Given the description of an element on the screen output the (x, y) to click on. 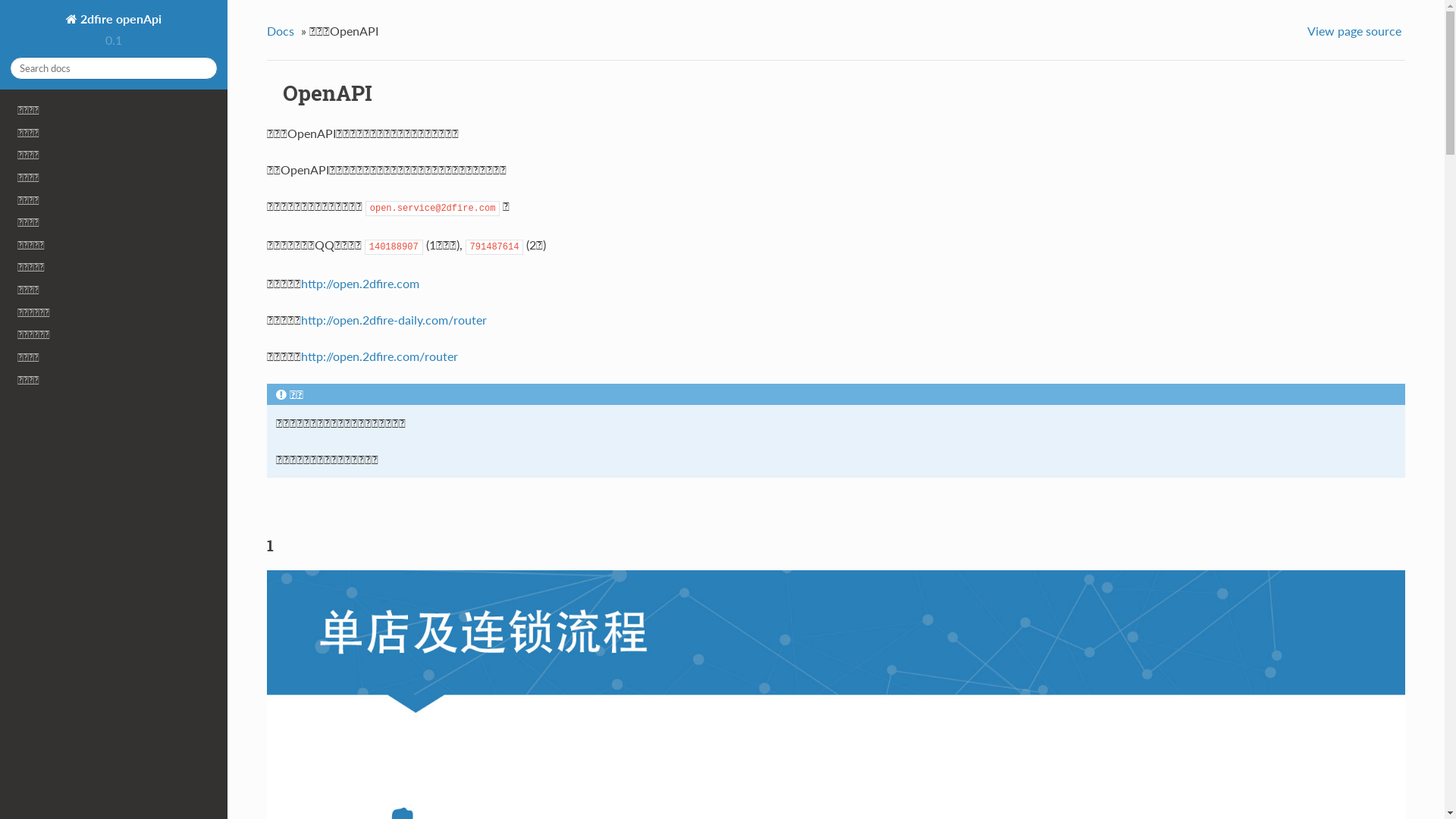
View page source Element type: text (1356, 30)
http://open.2dfire.com Element type: text (360, 283)
2dfire openApi Element type: text (113, 18)
http://open.2dfire.com/router Element type: text (379, 355)
http://open.2dfire-daily.com/router Element type: text (393, 319)
Docs Element type: text (282, 30)
